Given the description of an element on the screen output the (x, y) to click on. 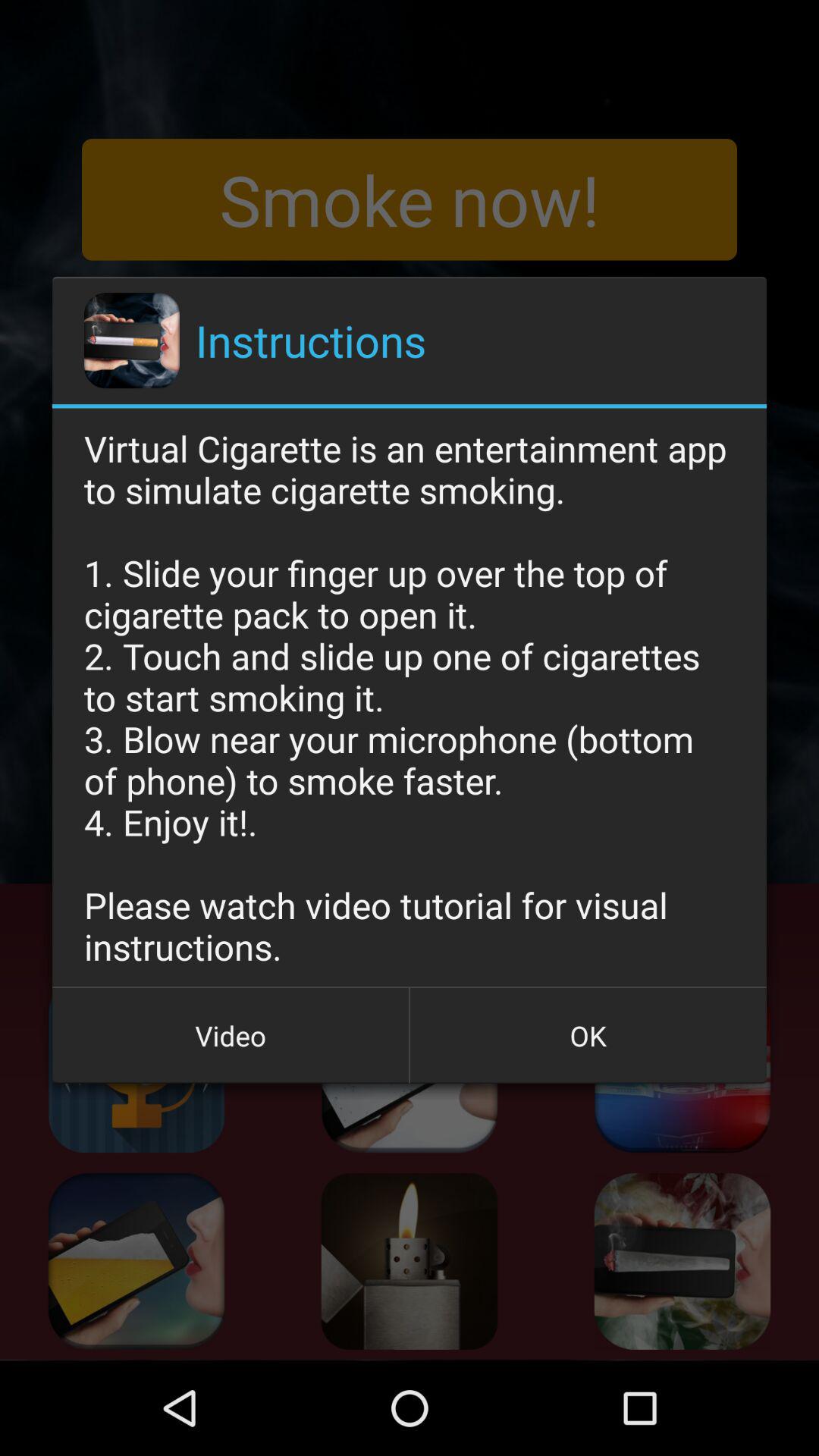
turn on the item at the bottom left corner (230, 1035)
